Given the description of an element on the screen output the (x, y) to click on. 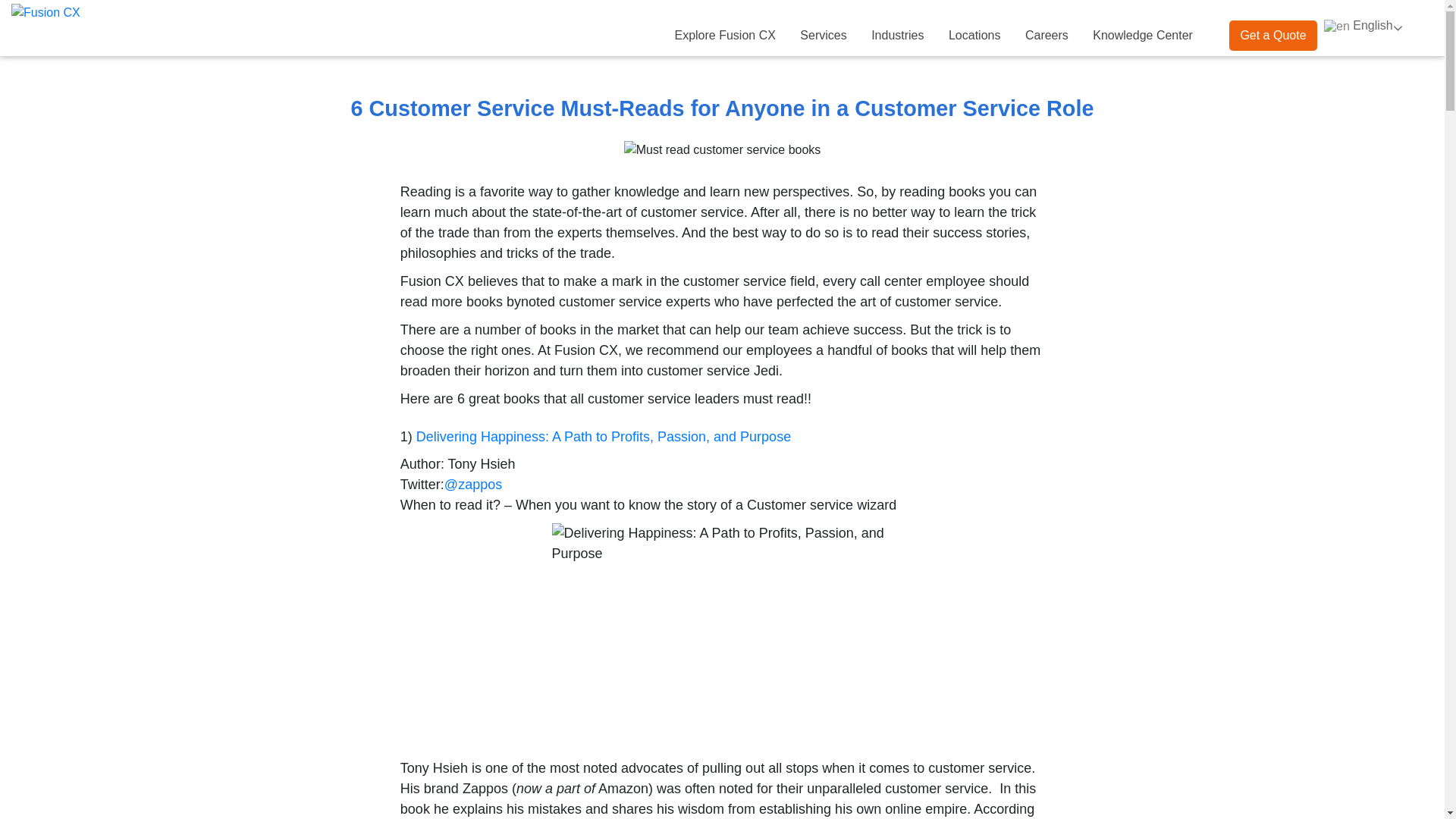
Explore Fusion CX (724, 35)
Industries (897, 35)
Services (823, 35)
